Given the description of an element on the screen output the (x, y) to click on. 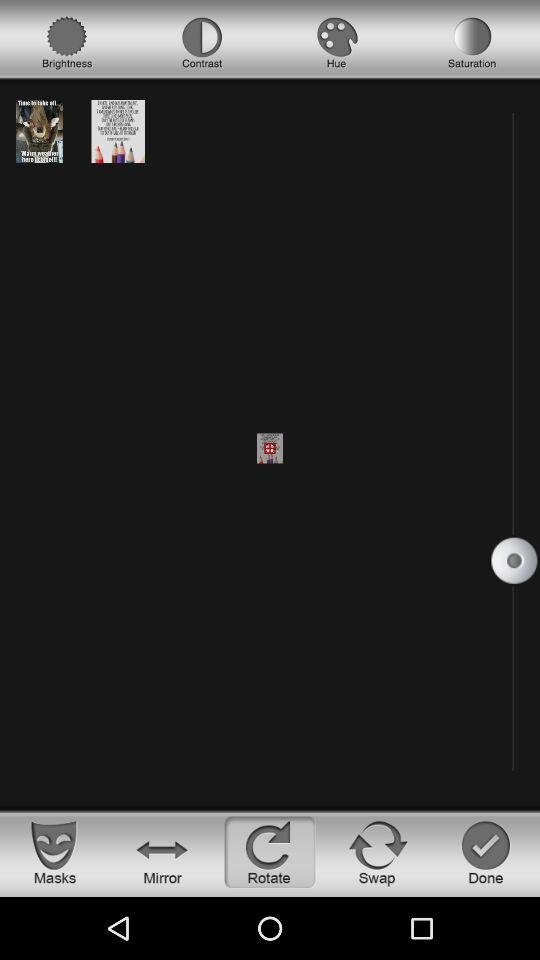
view the image (117, 130)
